Given the description of an element on the screen output the (x, y) to click on. 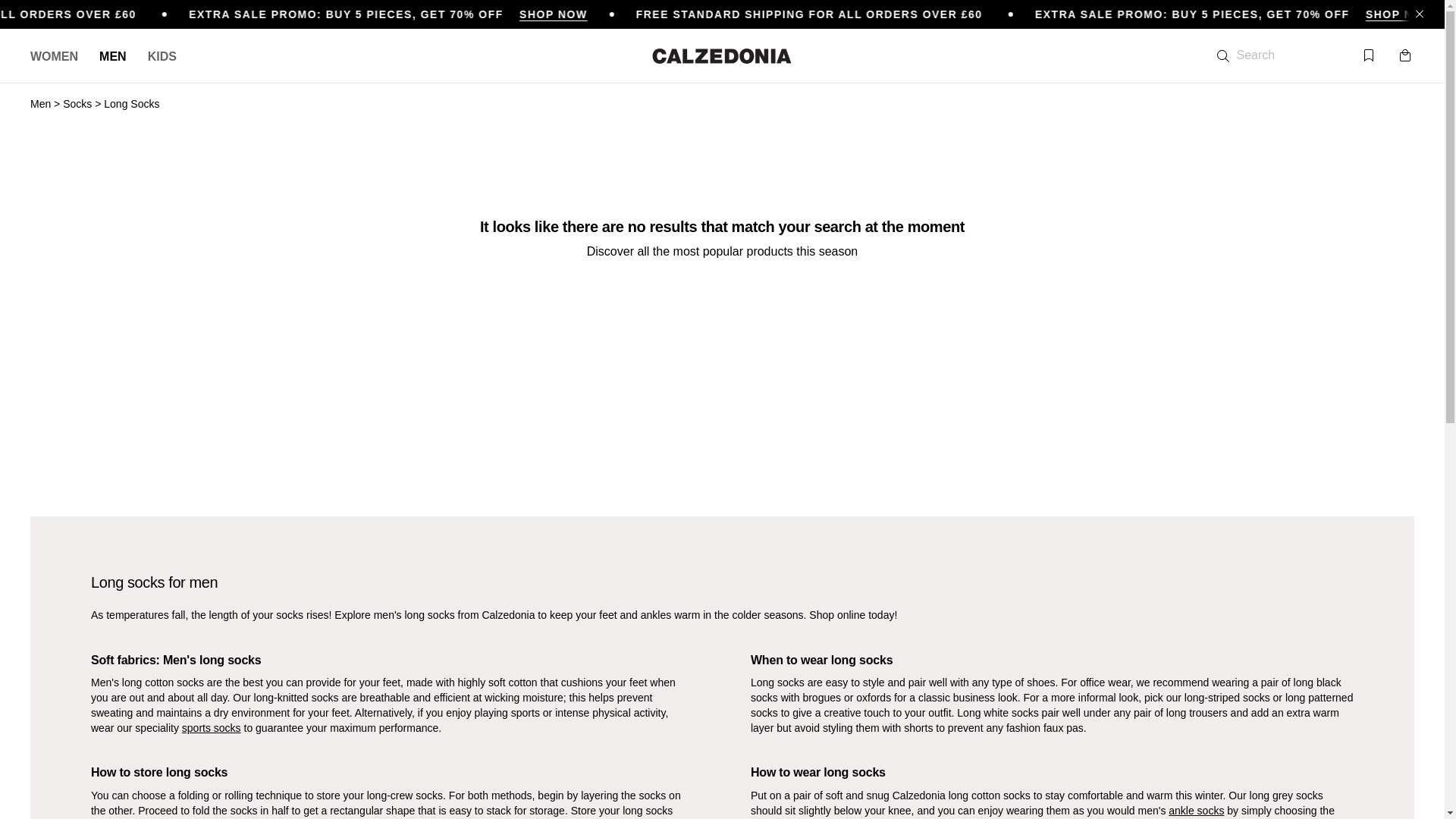
WOMEN (54, 56)
Shopping bag (1404, 55)
KIDS (162, 56)
Login (1331, 55)
MEN (112, 56)
Search (1270, 53)
View wishlist (1368, 55)
